Given the description of an element on the screen output the (x, y) to click on. 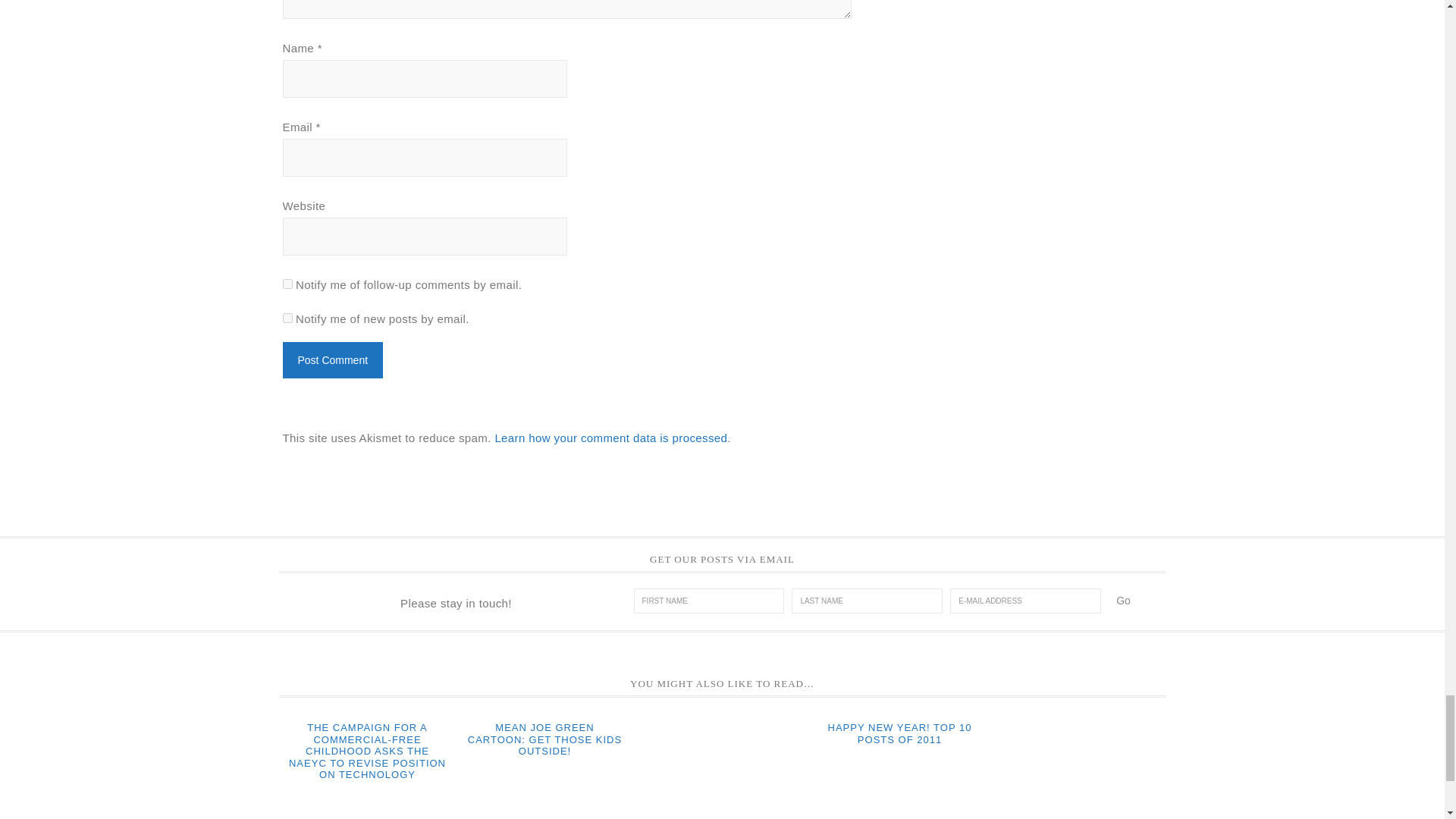
Go (1123, 600)
subscribe (287, 317)
subscribe (287, 284)
Post Comment (332, 360)
